Given the description of an element on the screen output the (x, y) to click on. 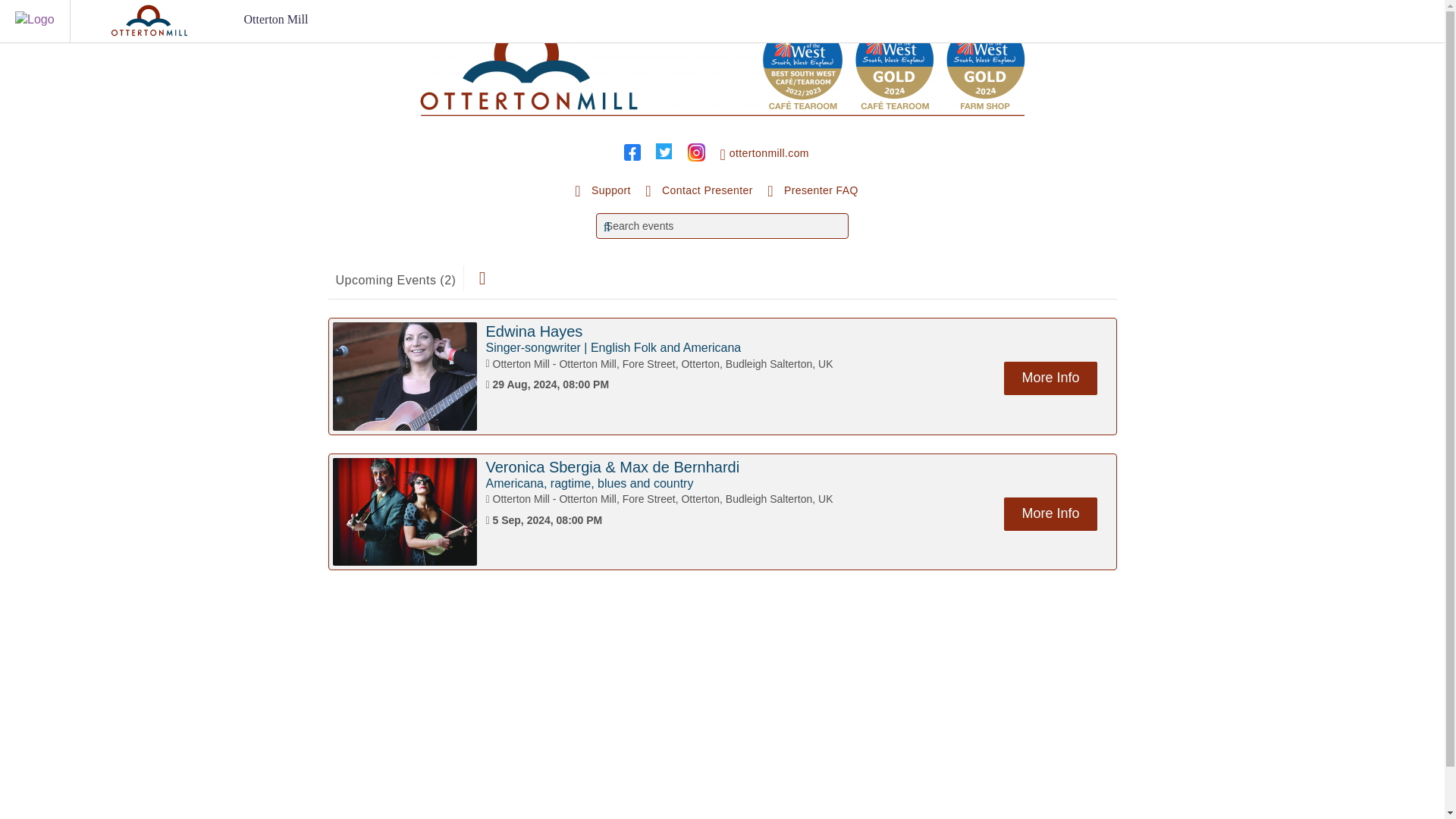
More Info (1050, 513)
ottertonmill.com (764, 155)
Contact Presenter (698, 191)
More Info (1050, 377)
Edwina Hayes (533, 330)
Support (602, 191)
Presenter FAQ (813, 191)
Otterton Mill (275, 20)
